Given the description of an element on the screen output the (x, y) to click on. 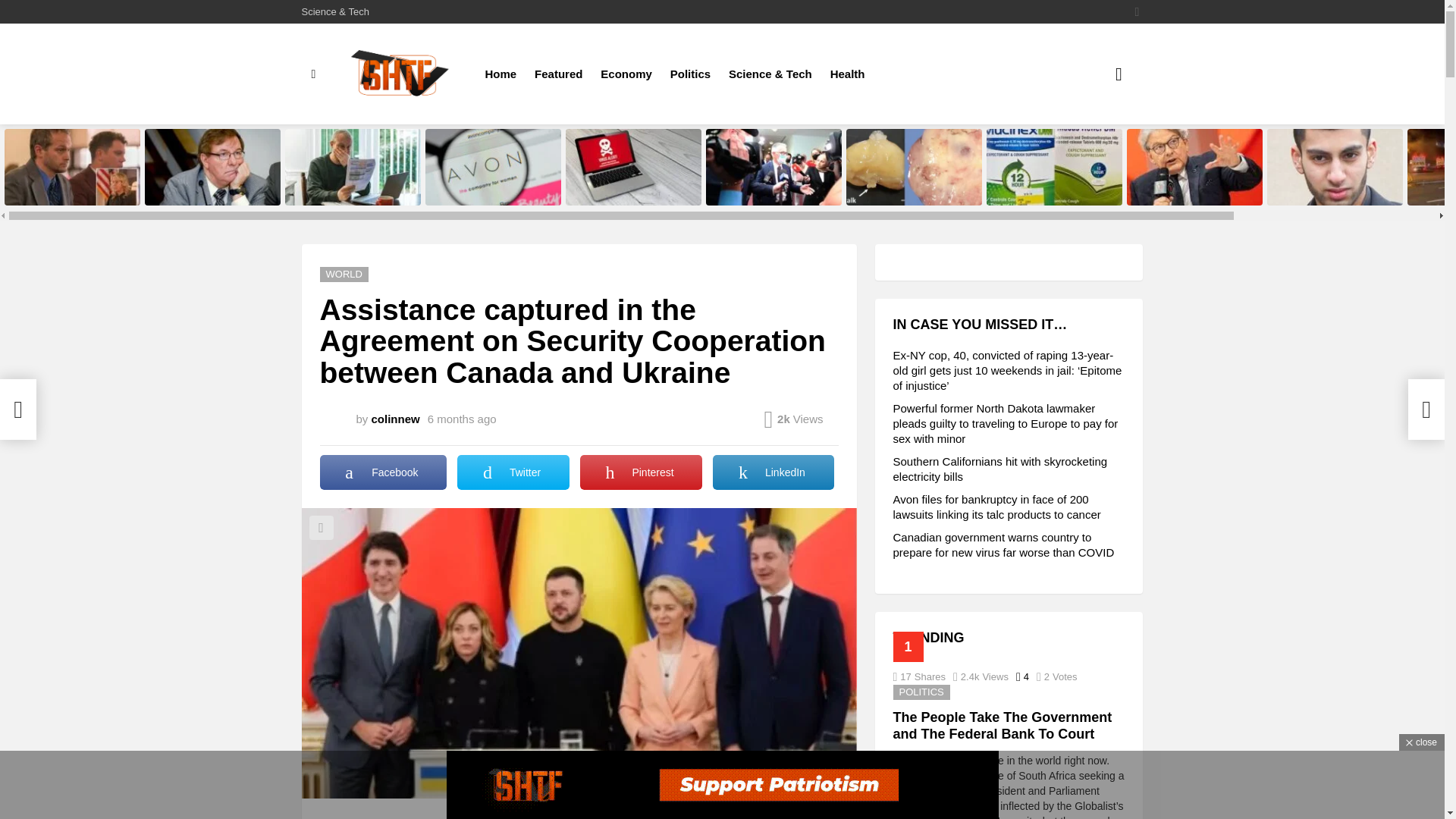
February 26, 2024, 11:18 am (462, 418)
EU sends warning letter to Musk ahead of Trump interview (1194, 166)
Economy (625, 74)
Menu (313, 74)
Posts by colinnew (395, 418)
Share on Facebook (383, 472)
Politics (689, 74)
